Given the description of an element on the screen output the (x, y) to click on. 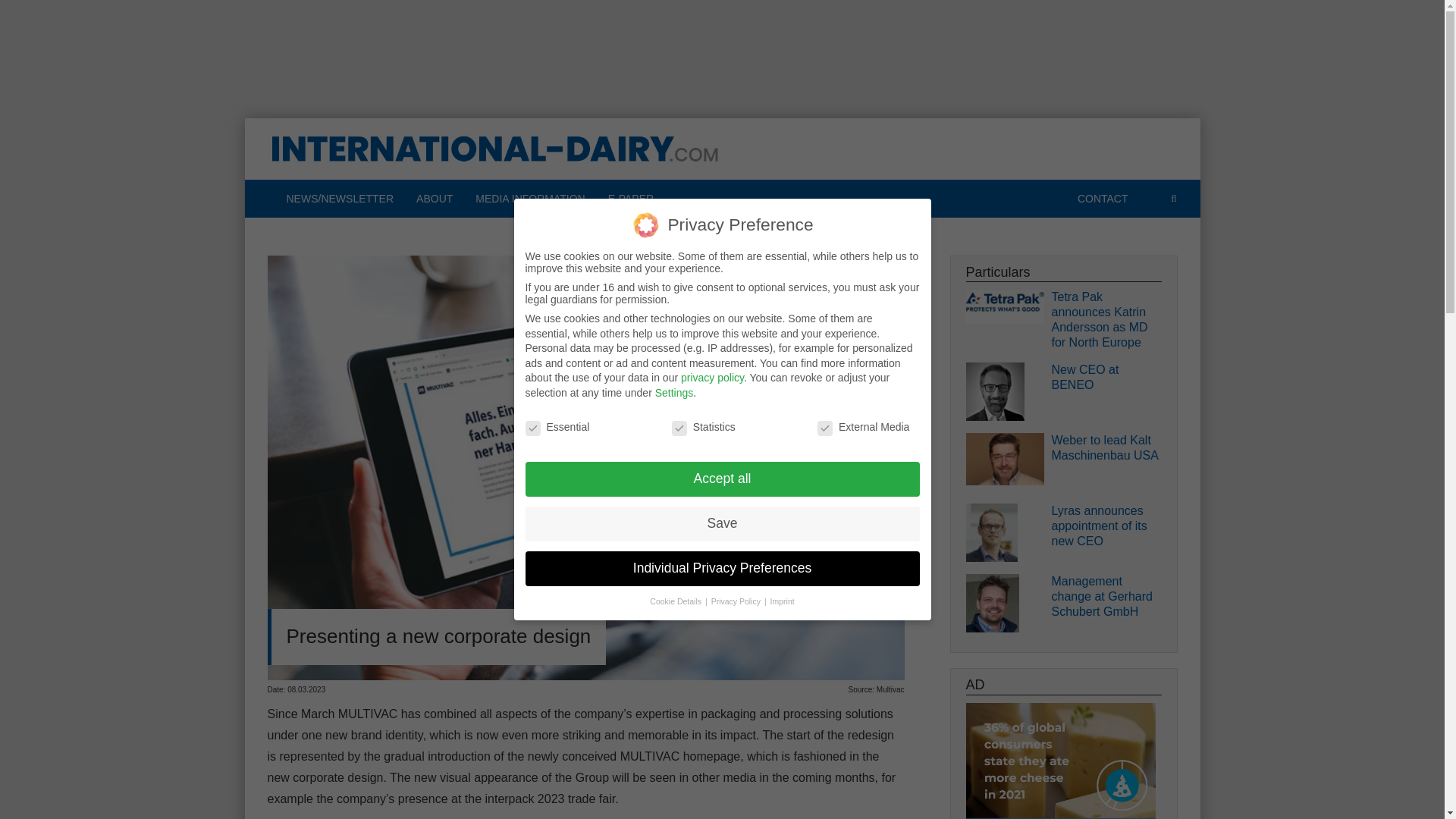
ABOUT (434, 198)
Weber to lead Kalt Maschinenbau USA (1105, 448)
Management change at Gerhard Schubert GmbH (1105, 596)
New CEO at BENEO (1105, 377)
MEDIA INFORMATION (529, 198)
Tetra Pak announces Katrin Andersson as MD for North Europe (1105, 319)
Lyras announces appointment of its new CEO (1105, 525)
E-PAPER (630, 198)
CONTACT (1102, 198)
